Given the description of an element on the screen output the (x, y) to click on. 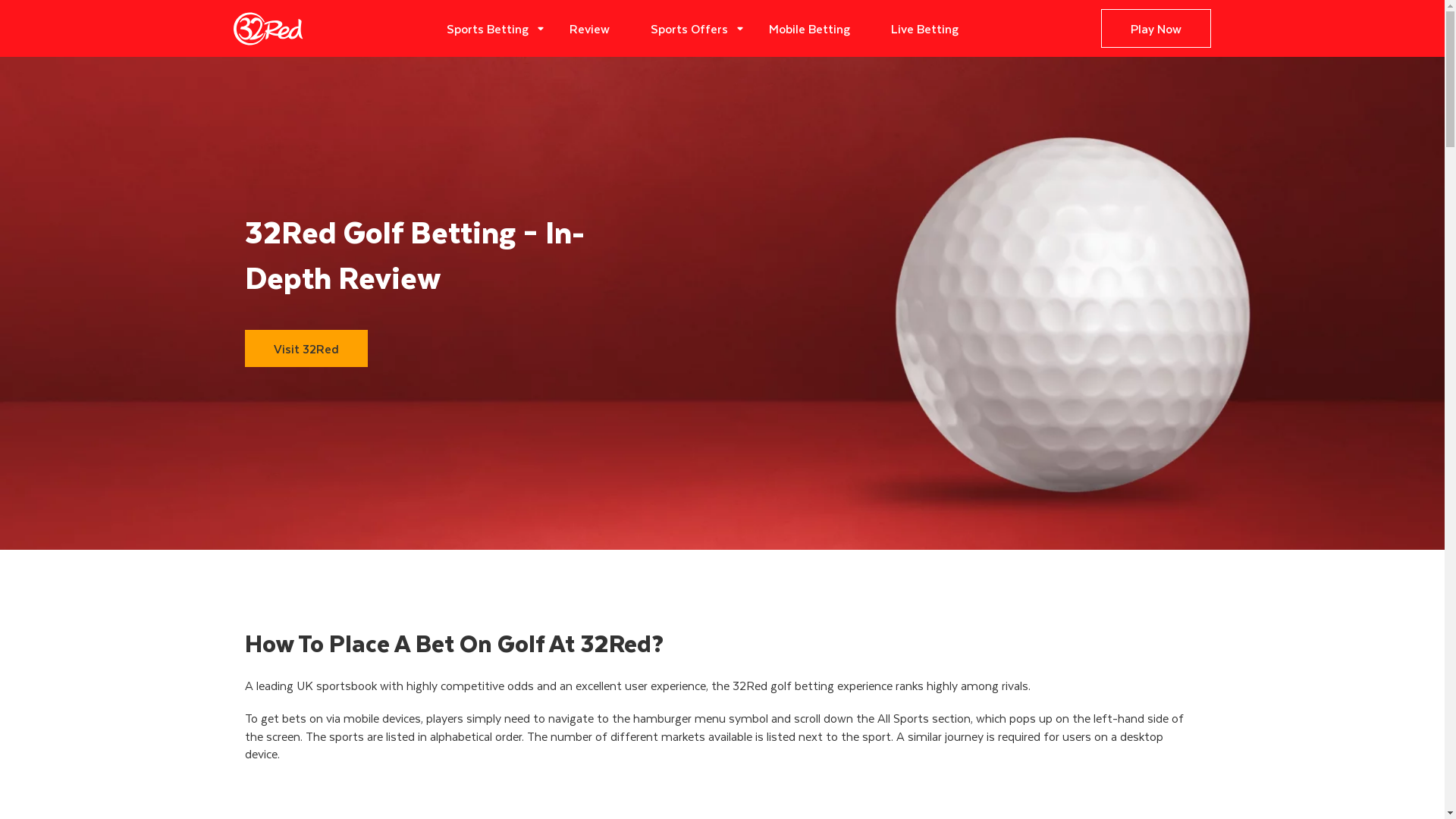
Visit 32Red Element type: text (305, 348)
Mobile Betting Element type: text (809, 28)
Live Betting Element type: text (924, 28)
Review Element type: text (589, 28)
Play Now Element type: text (1156, 28)
Sports Betting Element type: text (487, 28)
Sports Offers Element type: text (689, 28)
